Given the description of an element on the screen output the (x, y) to click on. 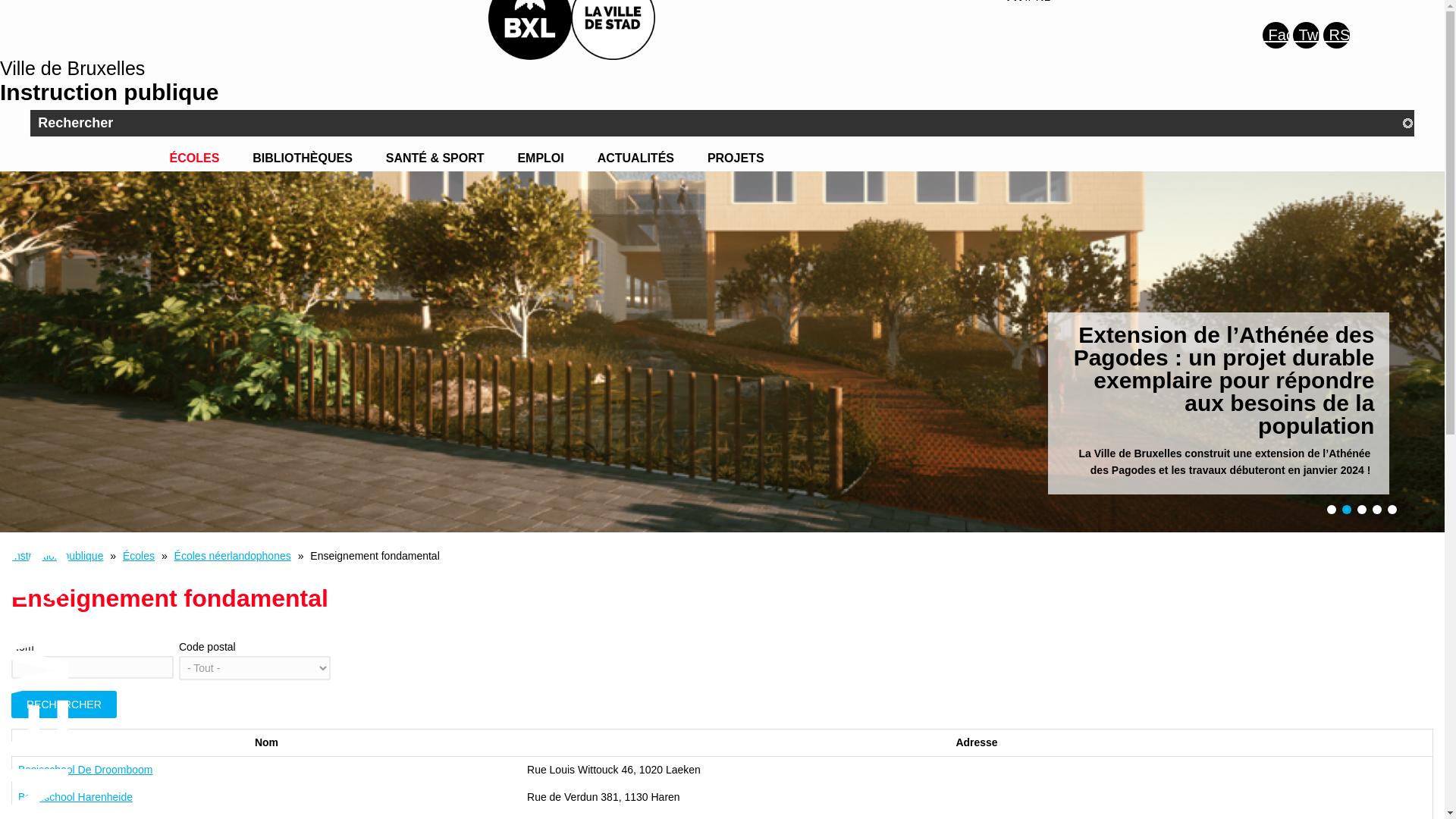
Basisschool De Droomboom Element type: text (85, 769)
Aller au contenu principal Element type: text (0, 0)
5 Element type: text (1391, 509)
Previous Element type: text (6, 534)
 Twitter Element type: text (1305, 34)
PROJETS Element type: text (735, 158)
4 Element type: text (1376, 509)
 Facebook Element type: text (1275, 34)
2 Element type: text (1346, 509)
 RSS Element type: text (1336, 34)
3 Element type: text (1361, 509)
1 Element type: text (1331, 509)
Basisschool Harenheide Element type: text (75, 796)
Instruction publique Element type: text (57, 555)
Rechercher Element type: text (63, 704)
EMPLOI Element type: text (540, 158)
